Given the description of an element on the screen output the (x, y) to click on. 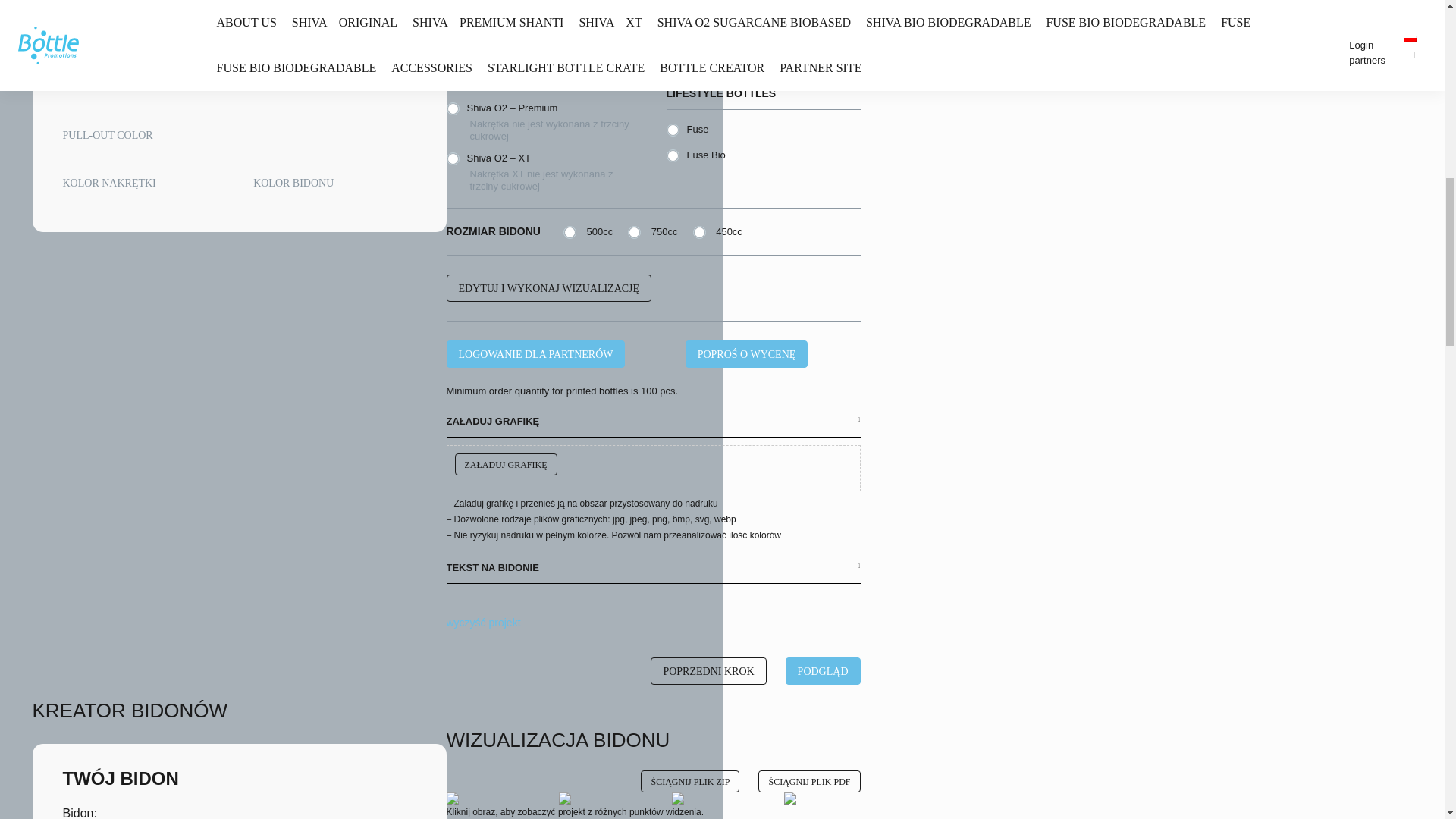
Fuse Cap White (350, 8)
Shanti (137, 8)
XT (244, 8)
Fuse Cap Anthracite (85, 64)
Shiva (85, 8)
